Given the description of an element on the screen output the (x, y) to click on. 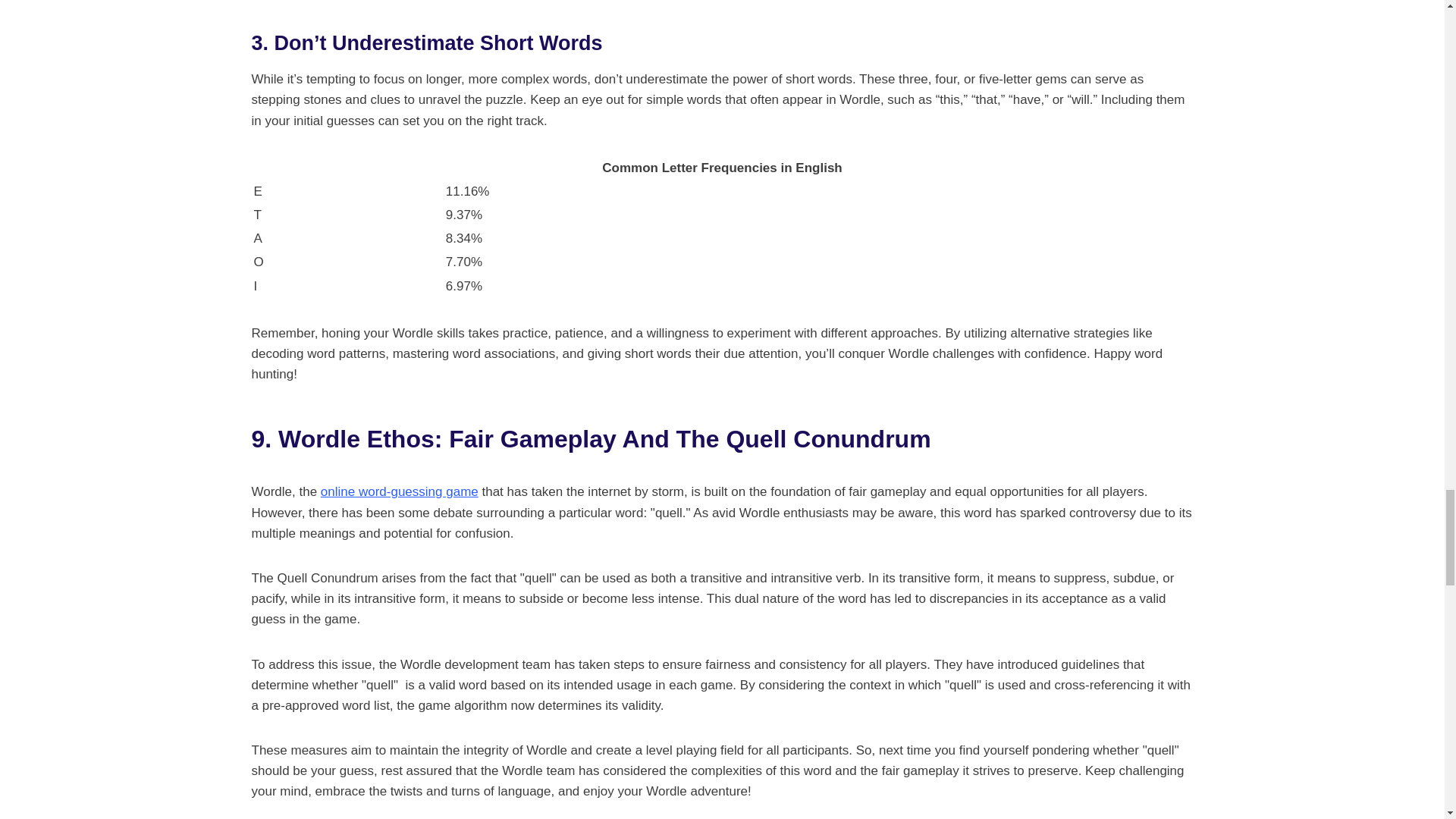
Is Polly a Wordle Word? Exploring Wordle Vocabulary (399, 491)
